Given the description of an element on the screen output the (x, y) to click on. 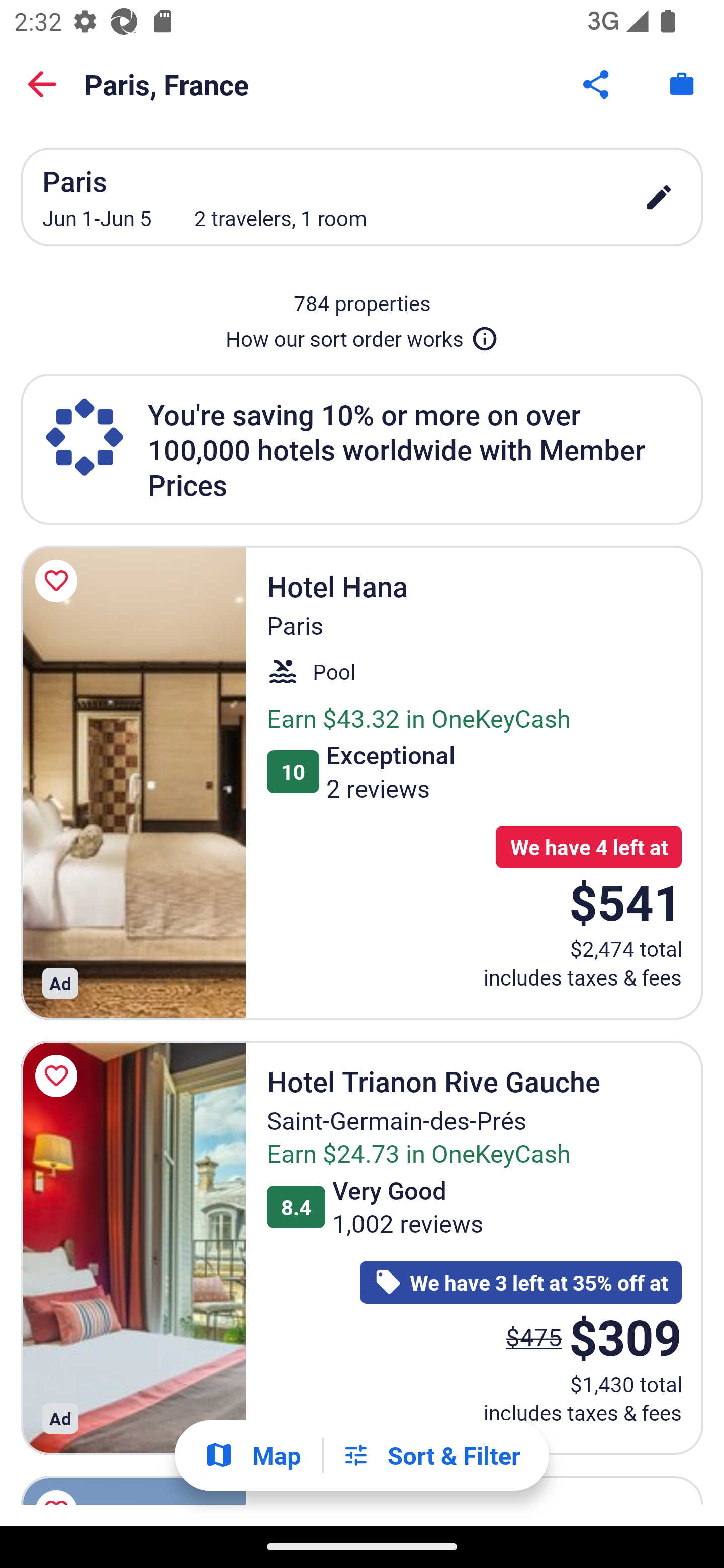
Back (42, 84)
Share Button (597, 84)
Trips. Button (681, 84)
Paris Jun 1-Jun 5 2 travelers, 1 room edit (361, 196)
How our sort order works (361, 334)
Save Hotel Hana to a trip (59, 580)
Hotel Hana (133, 782)
Save Hotel Trianon Rive Gauche to a trip (59, 1075)
Hotel Trianon Rive Gauche (133, 1248)
$475 The price was $475 (533, 1336)
Filters Sort & Filter Filters Button (430, 1455)
Show map Map Show map Button (252, 1455)
